Given the description of an element on the screen output the (x, y) to click on. 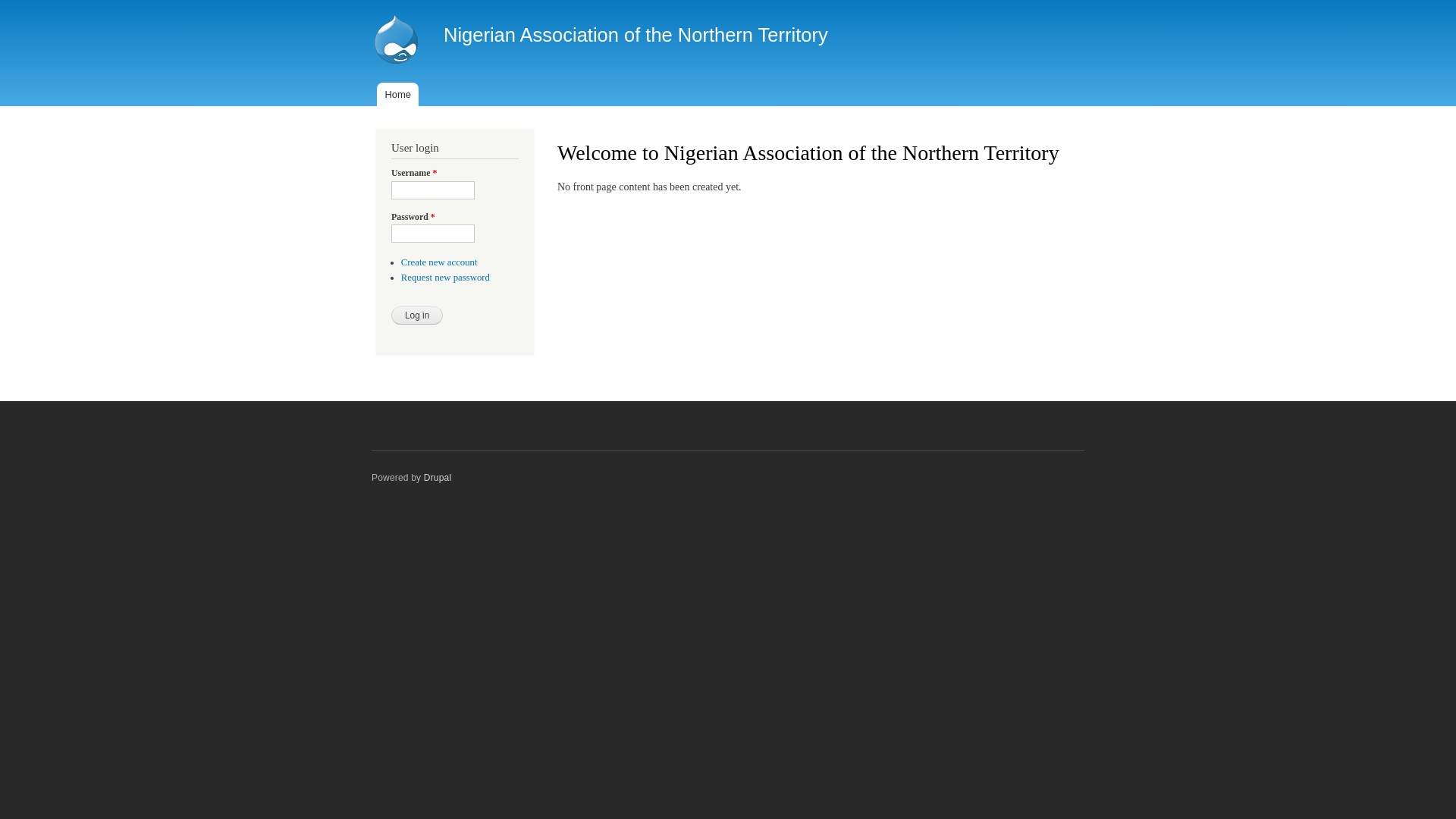
Log in Element type: text (416, 315)
Request new password Element type: text (445, 277)
Home Element type: text (397, 94)
Skip to main content Element type: text (695, 1)
Nigerian Association of the Northern Territory Element type: text (635, 34)
Create new account Element type: text (439, 262)
Drupal Element type: text (437, 477)
Home Element type: hover (398, 41)
